Given the description of an element on the screen output the (x, y) to click on. 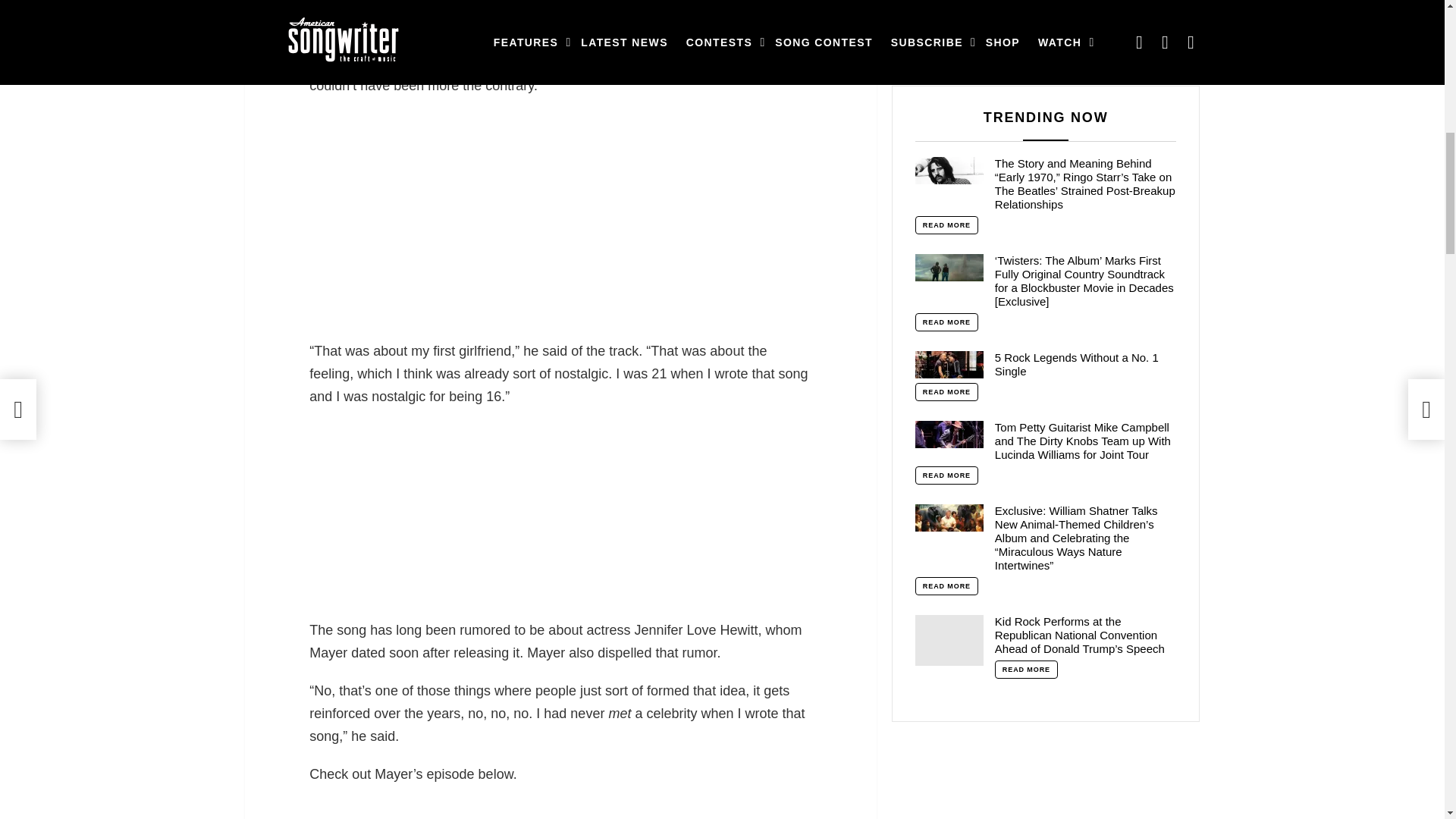
3rd party ad content (560, 517)
3rd party ad content (560, 207)
